Given the description of an element on the screen output the (x, y) to click on. 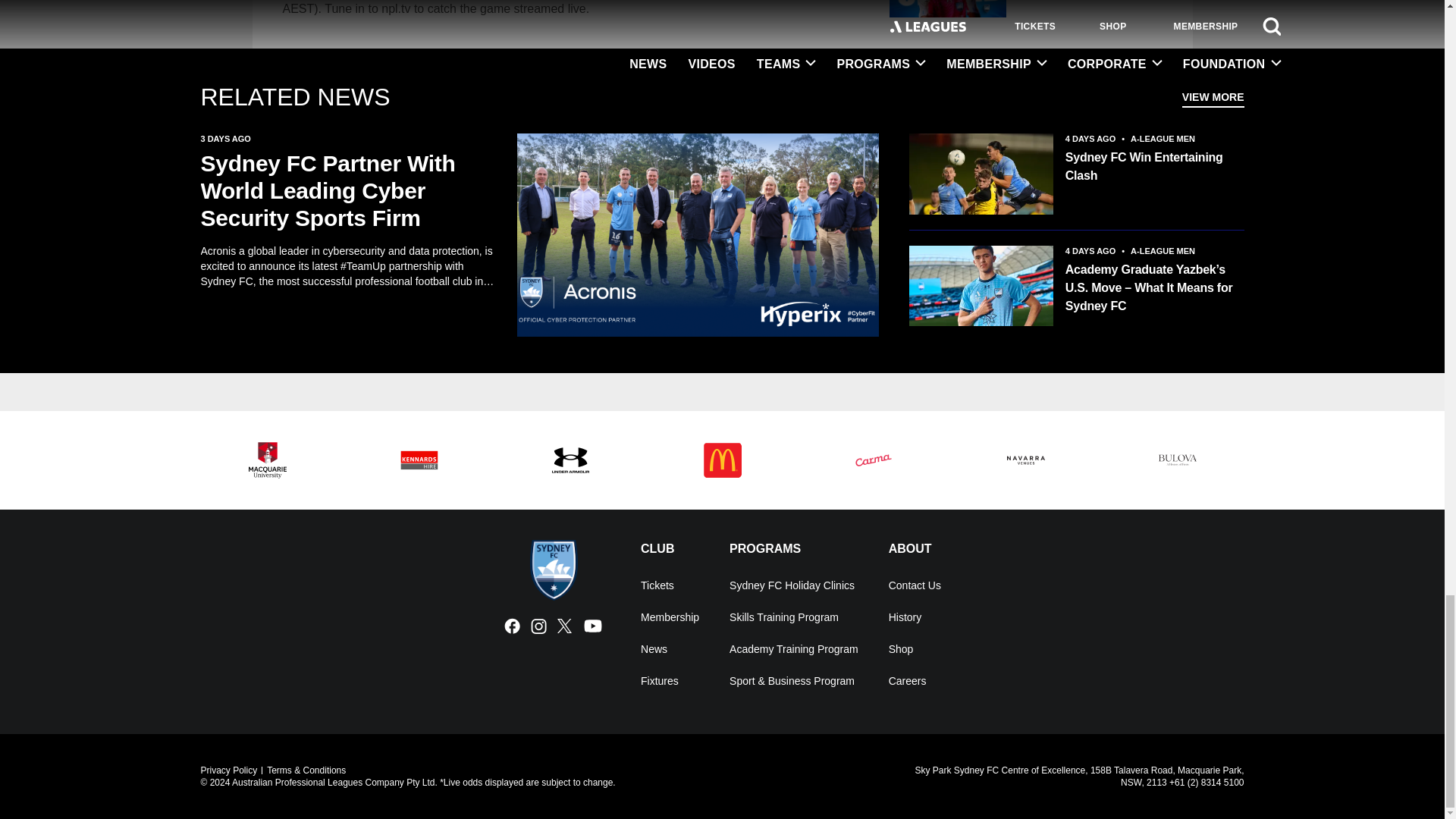
Macquarie Uni (266, 460)
McDonalds (722, 460)
Carma (873, 460)
Kennards (418, 460)
BULOVA (1176, 460)
Under Armour (569, 460)
Navarra (1024, 460)
